Given the description of an element on the screen output the (x, y) to click on. 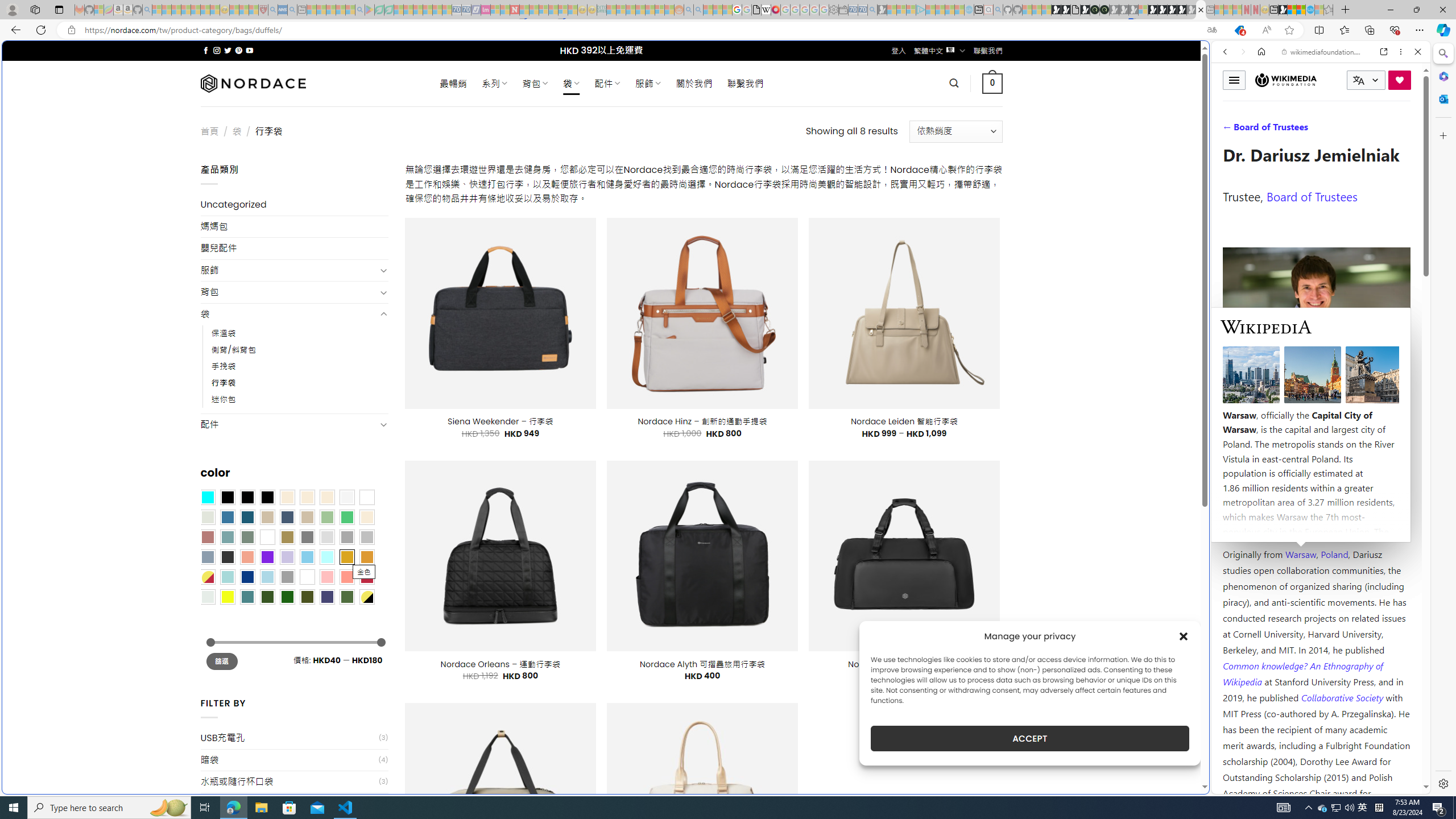
Actions for this site (1370, 583)
Bluey: Let's Play! - Apps on Google Play - Sleeping (369, 9)
